Given the description of an element on the screen output the (x, y) to click on. 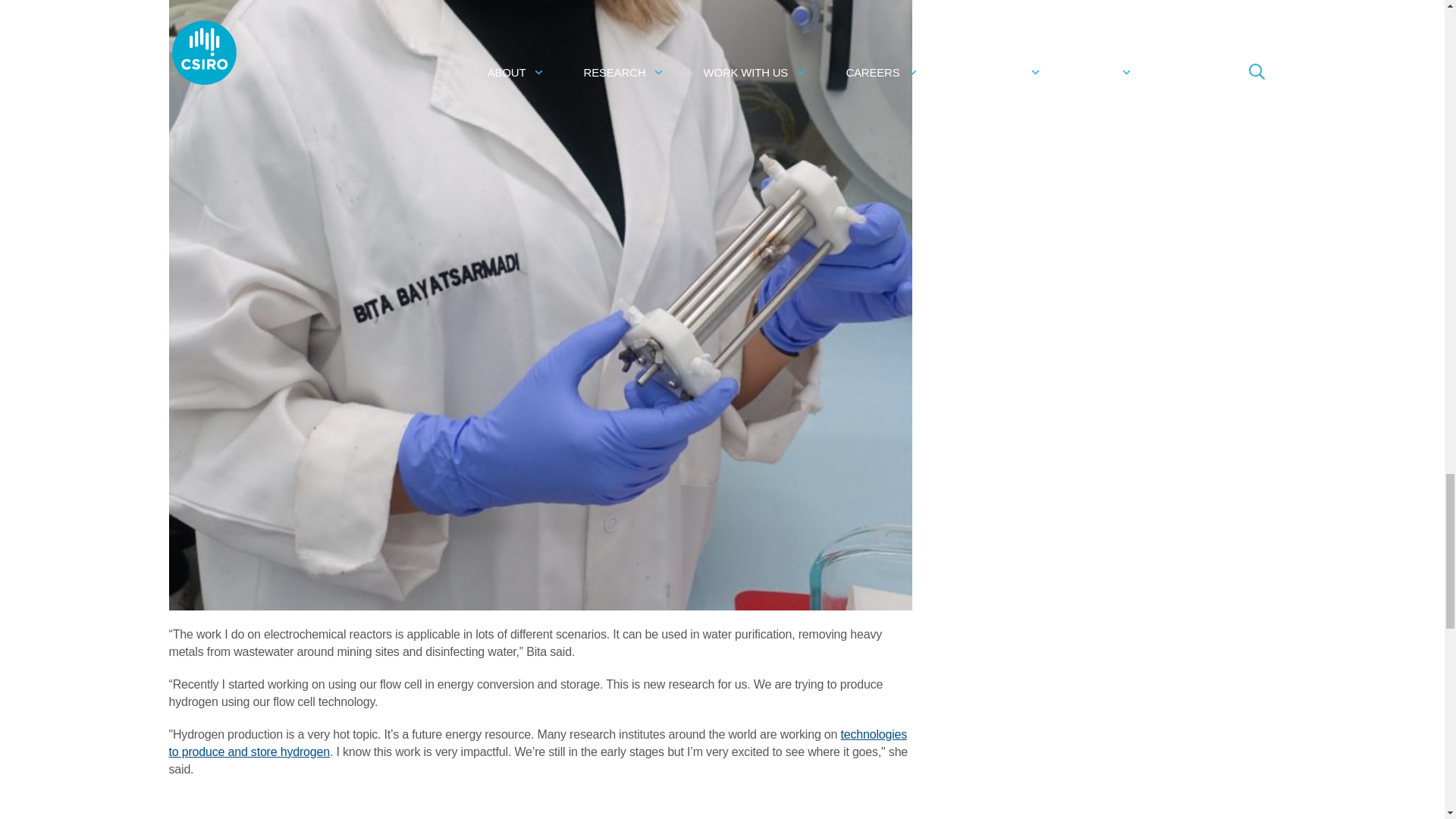
technologies to produce and store hydrogen (537, 743)
